Given the description of an element on the screen output the (x, y) to click on. 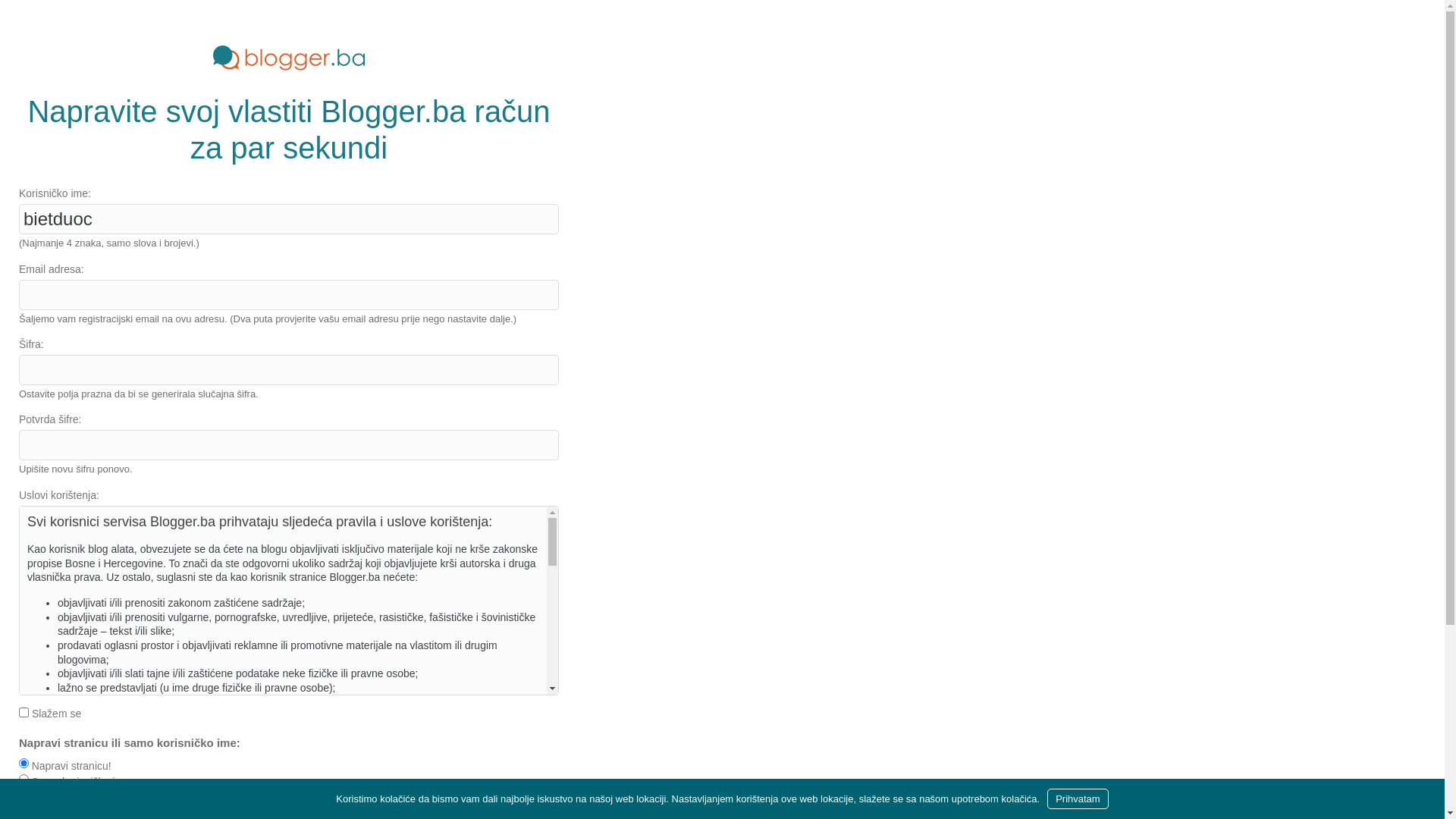
Prihvatam Element type: text (1077, 798)
